Given the description of an element on the screen output the (x, y) to click on. 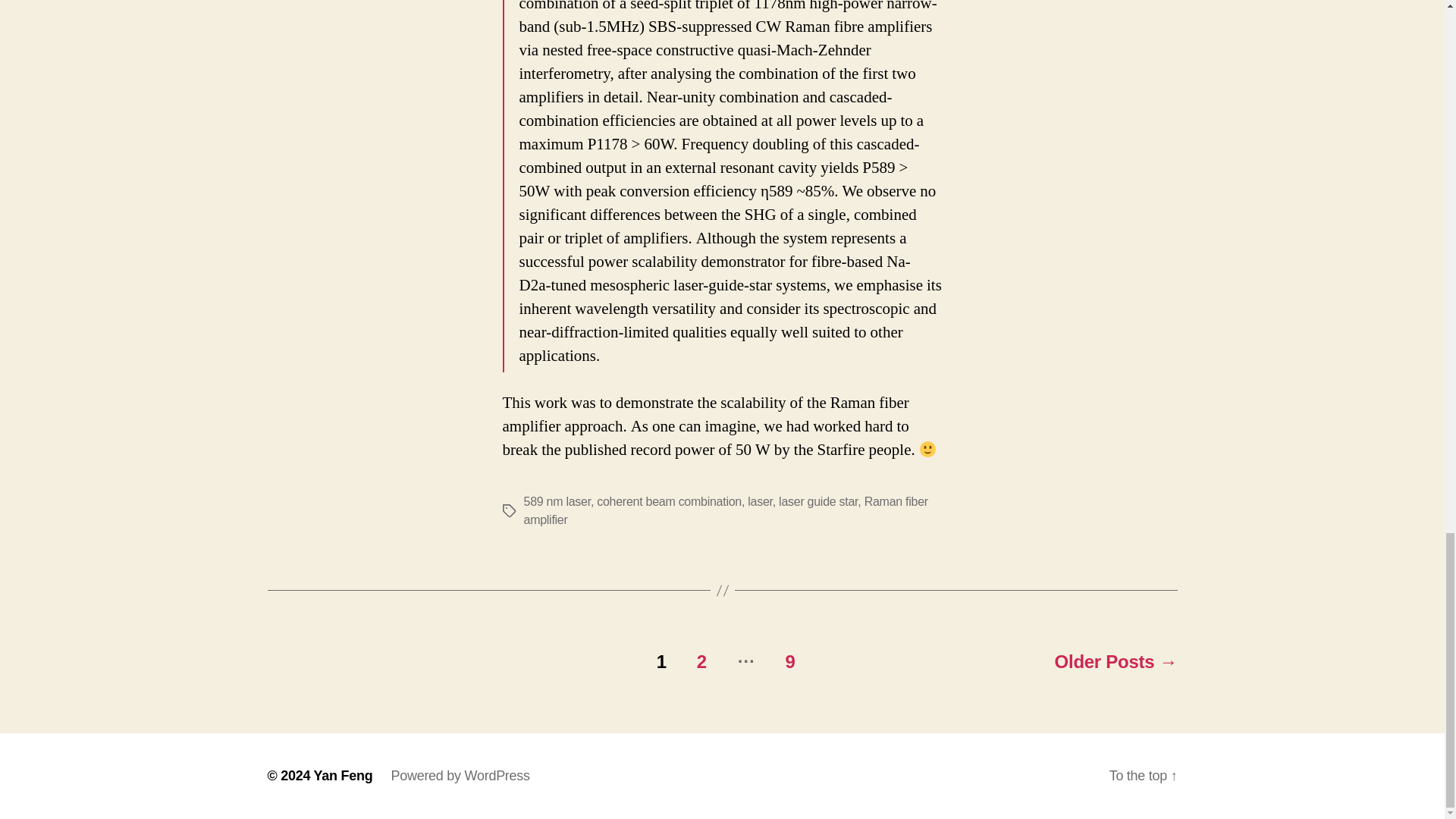
Yan Feng (343, 775)
Powered by WordPress (459, 775)
laser guide star (817, 501)
laser (759, 501)
589 nm laser (555, 501)
Raman fiber amplifier (724, 510)
coherent beam combination (668, 501)
